Given the description of an element on the screen output the (x, y) to click on. 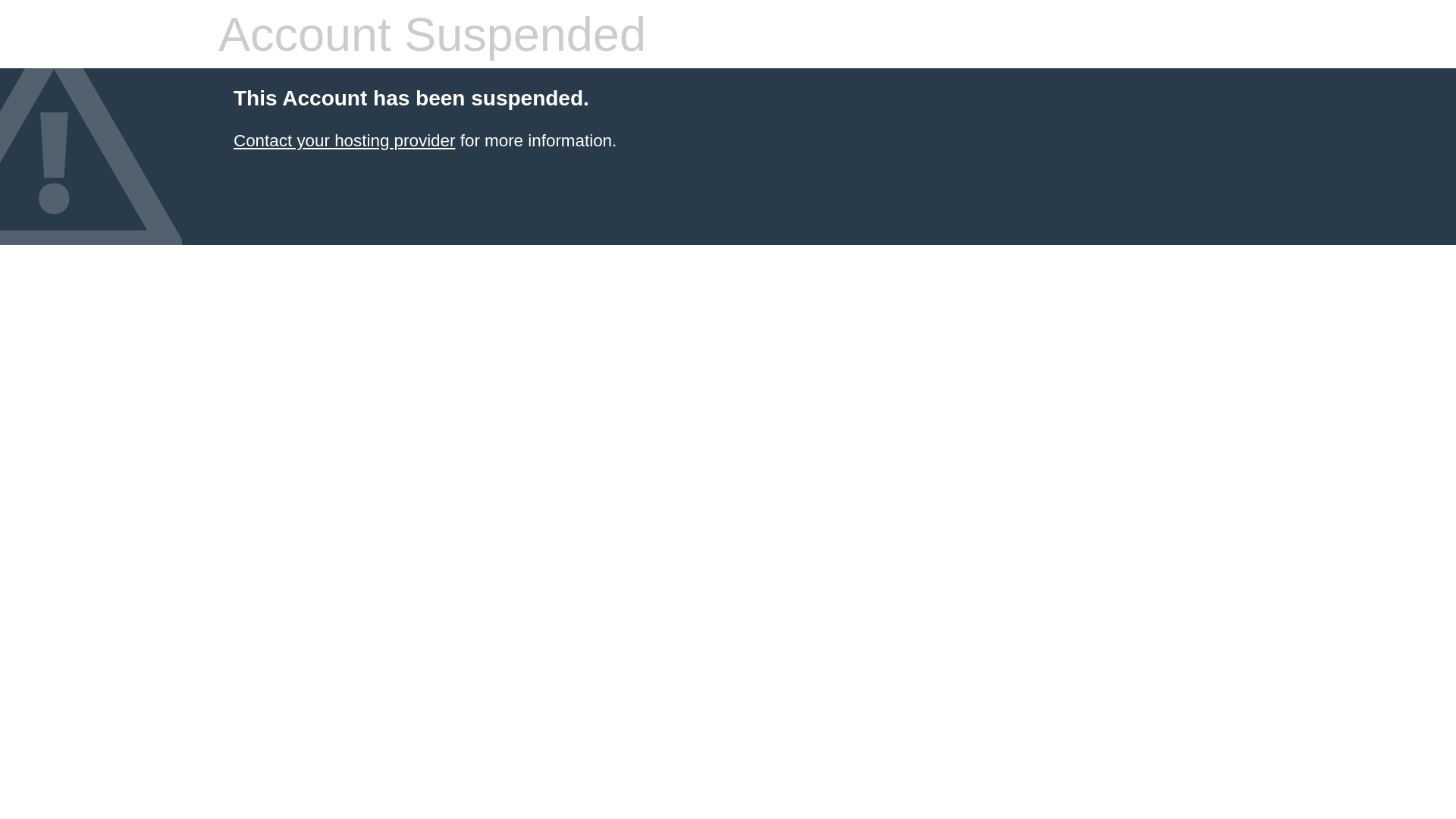
Contact your hosting provider Element type: text (344, 140)
